Given the description of an element on the screen output the (x, y) to click on. 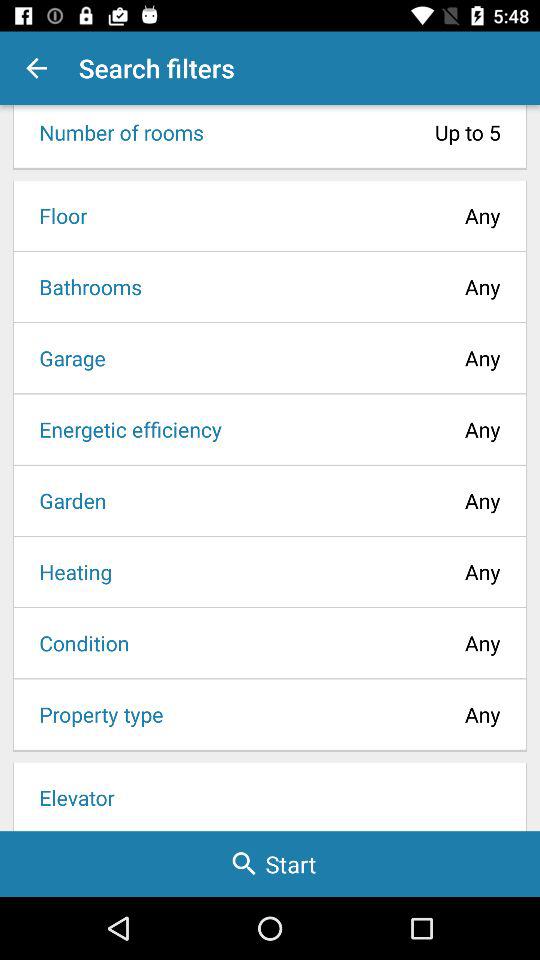
launch item next to any item (69, 571)
